Given the description of an element on the screen output the (x, y) to click on. 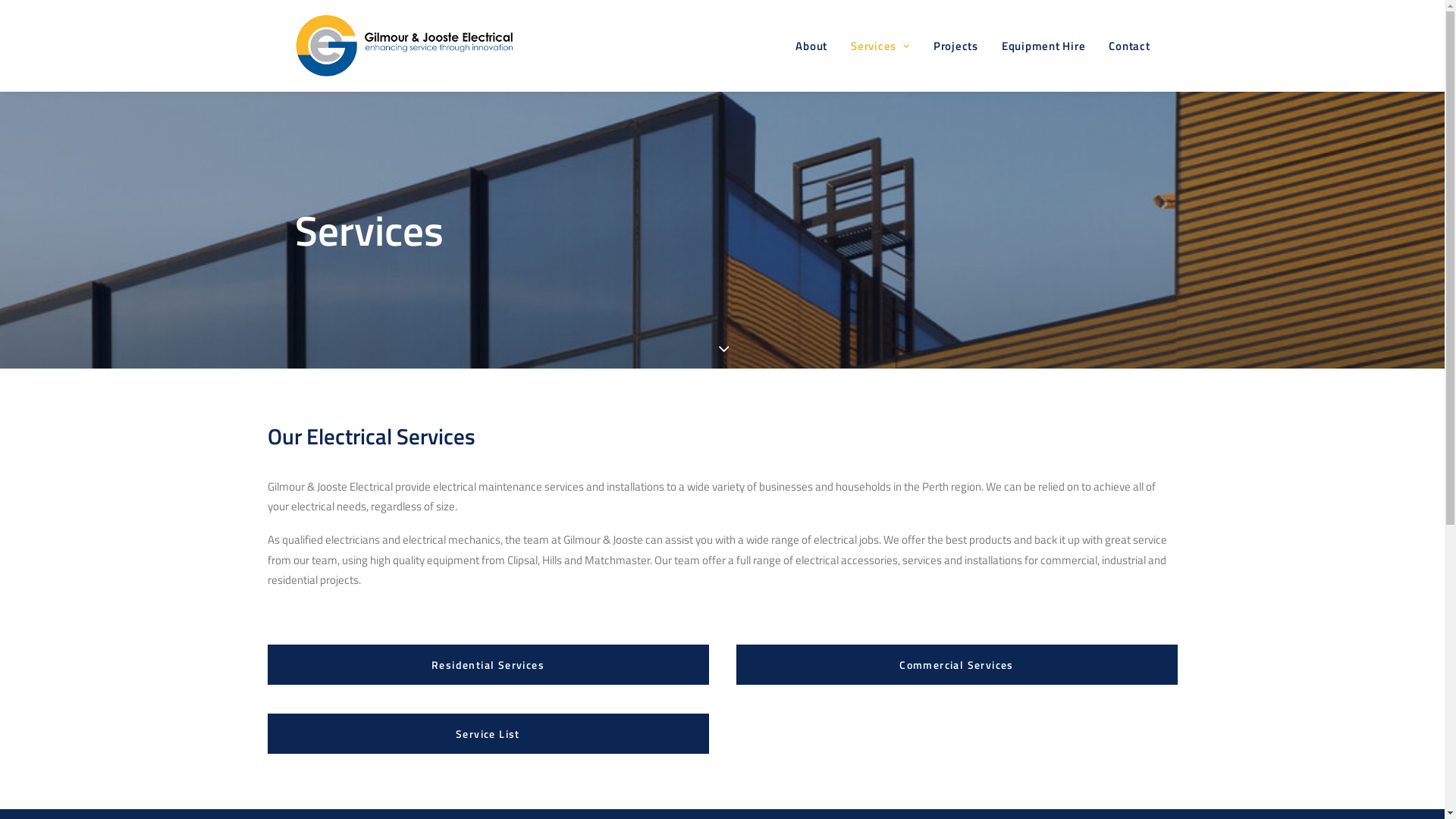
About Element type: text (816, 45)
Services Element type: text (880, 45)
Residential Services Element type: text (487, 664)
Equipment Hire Element type: text (1043, 45)
Projects Element type: text (955, 45)
Service List Element type: text (487, 733)
Commercial Services Element type: text (955, 664)
Contact Element type: text (1123, 45)
